Given the description of an element on the screen output the (x, y) to click on. 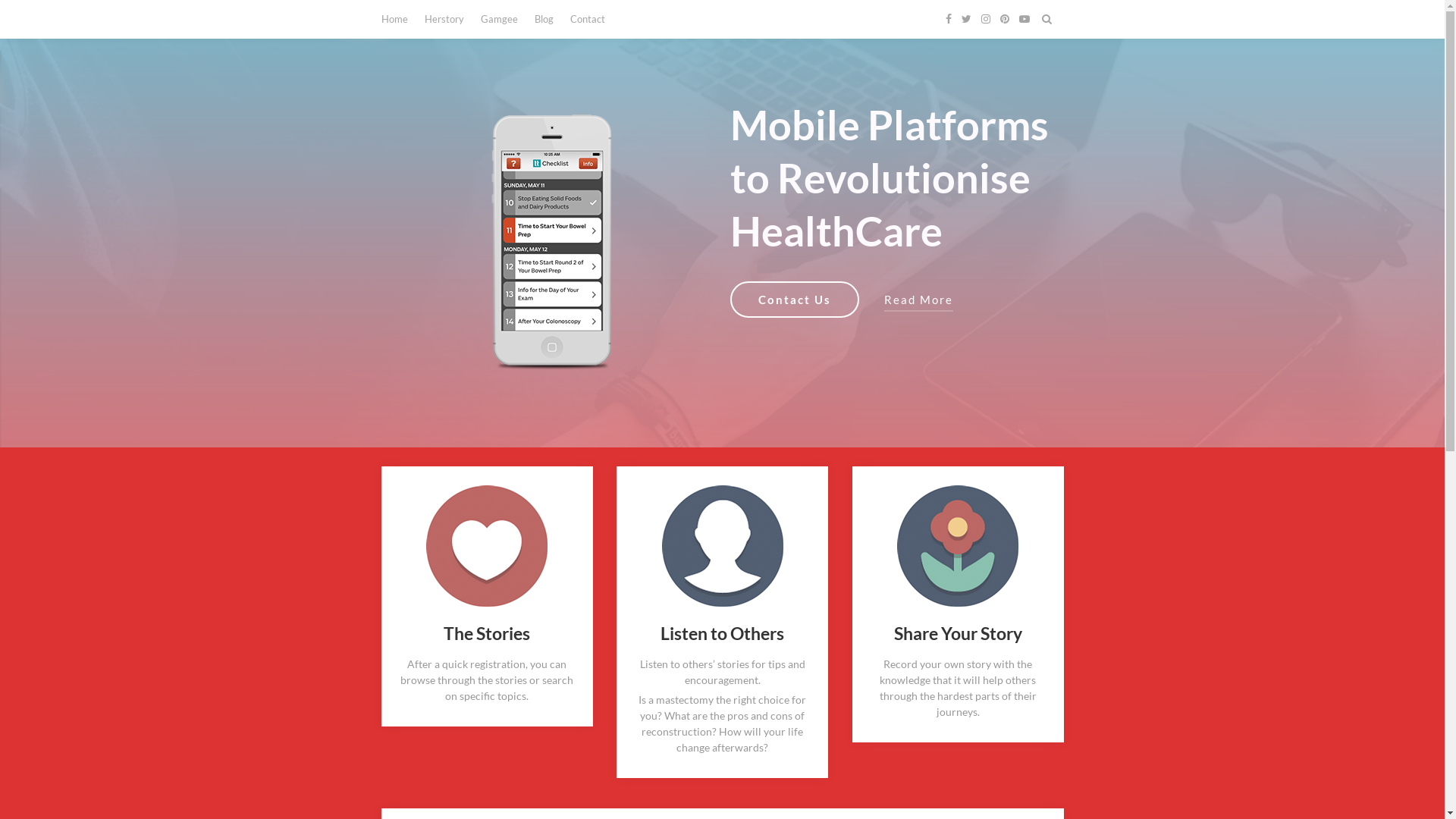
Home Element type: text (393, 18)
Contact Element type: text (587, 18)
Contact Us Element type: text (793, 299)
Blog Element type: text (542, 18)
Herstory Element type: text (444, 18)
Read More Element type: text (918, 300)
Gamgee Element type: text (498, 18)
